Given the description of an element on the screen output the (x, y) to click on. 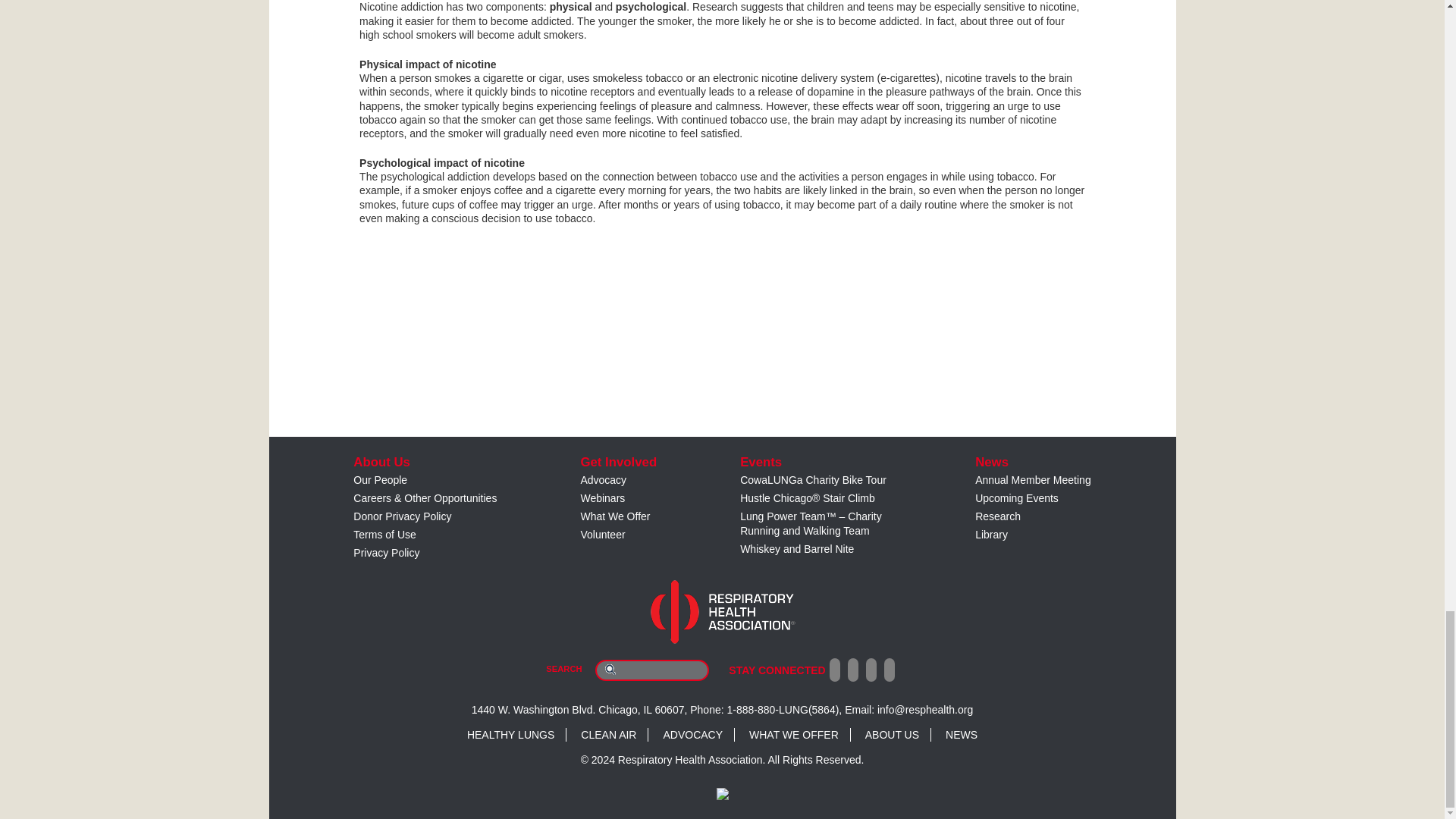
Search for: (652, 670)
Search (609, 669)
Search (609, 669)
